Given the description of an element on the screen output the (x, y) to click on. 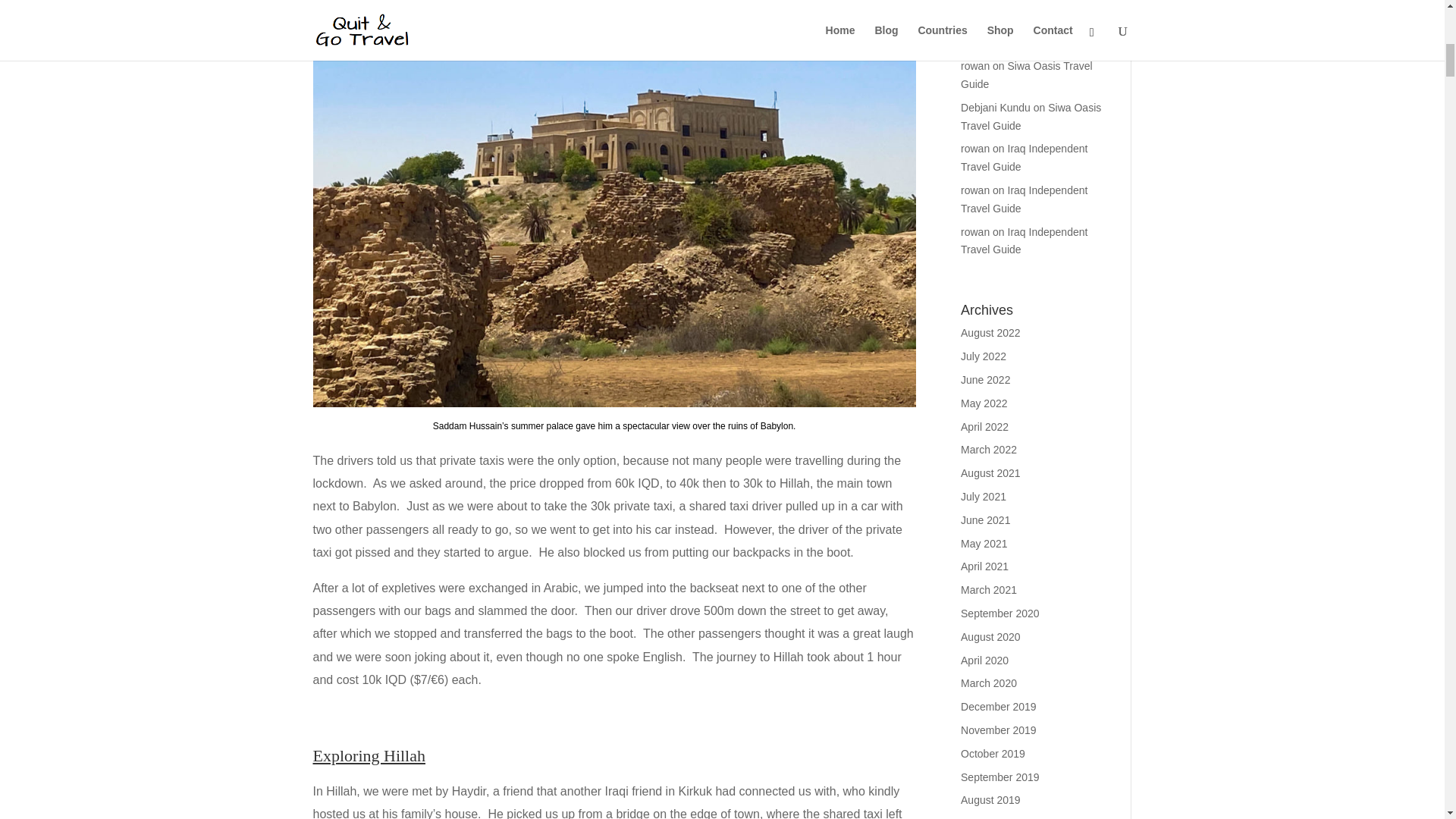
Iraq Independent Travel Guide (1023, 241)
May 2022 (983, 403)
July 2022 (983, 356)
May 2021 (983, 543)
April 2022 (984, 426)
Siwa Oasis Travel Guide (1030, 116)
Iraq Independent Travel Guide (1023, 199)
March 2022 (988, 449)
July 2021 (983, 496)
Iraq Independent Travel Guide (1023, 157)
